Given the description of an element on the screen output the (x, y) to click on. 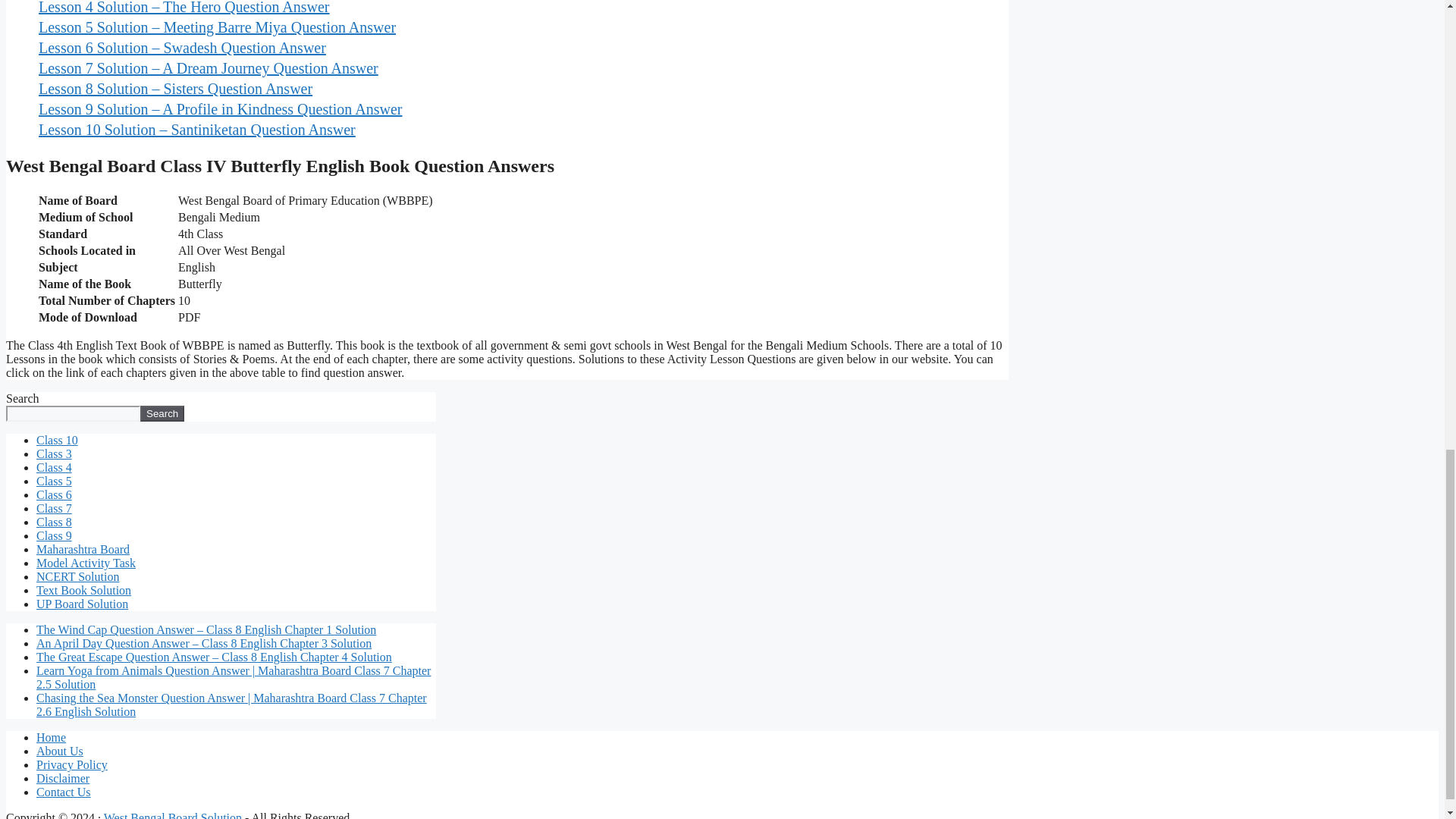
Class 5 (53, 481)
Search (161, 413)
Class 3 (53, 453)
Class 10 (57, 440)
Class 4 (53, 467)
